Given the description of an element on the screen output the (x, y) to click on. 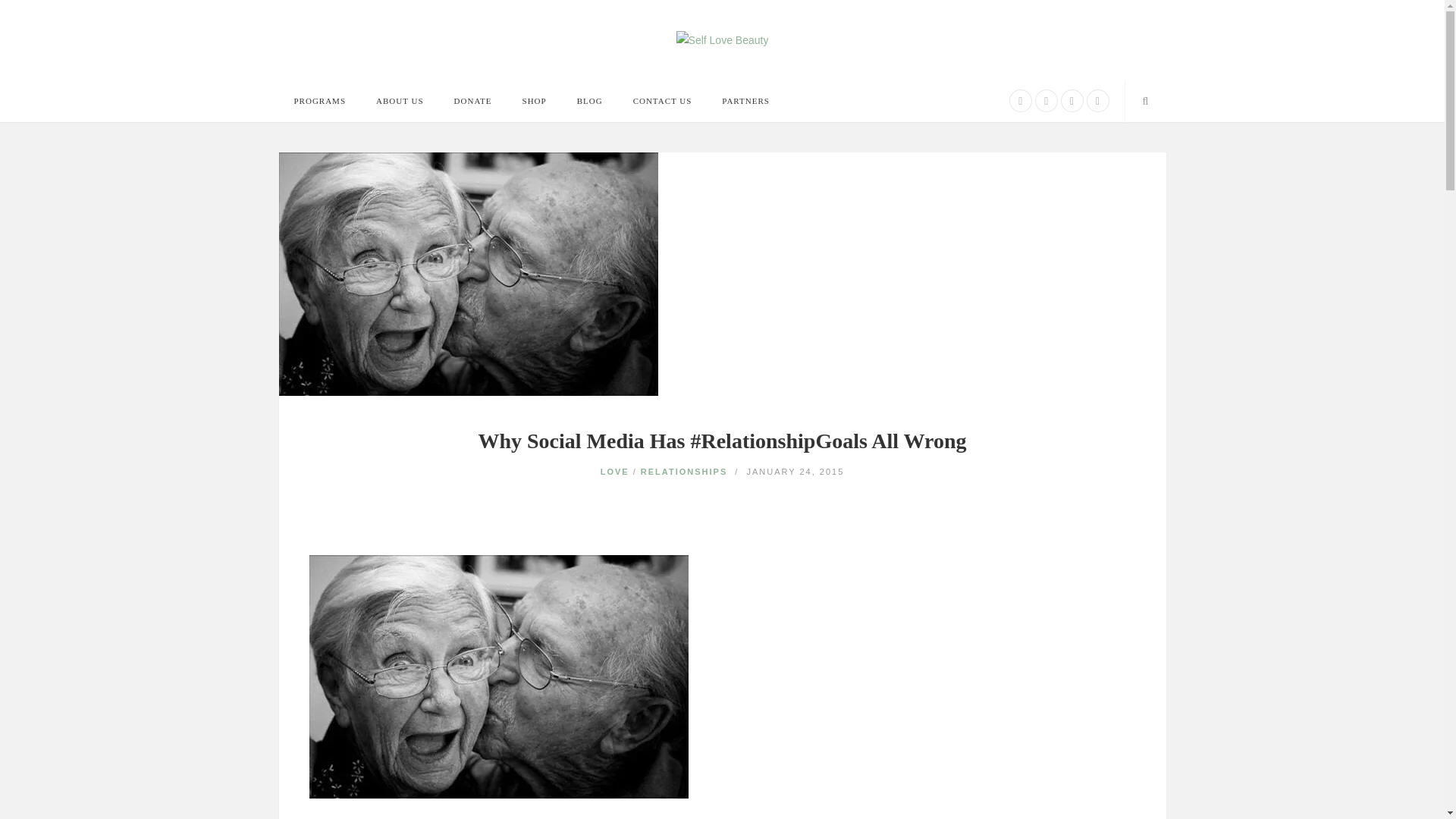
ABOUT US (400, 101)
Self Love Beauty (722, 39)
DONATE (472, 101)
Instagram (1046, 100)
YouTube (1097, 100)
PROGRAMS (320, 101)
LinkedIn (1072, 100)
Facebook (1020, 100)
SHOP (534, 101)
